Given the description of an element on the screen output the (x, y) to click on. 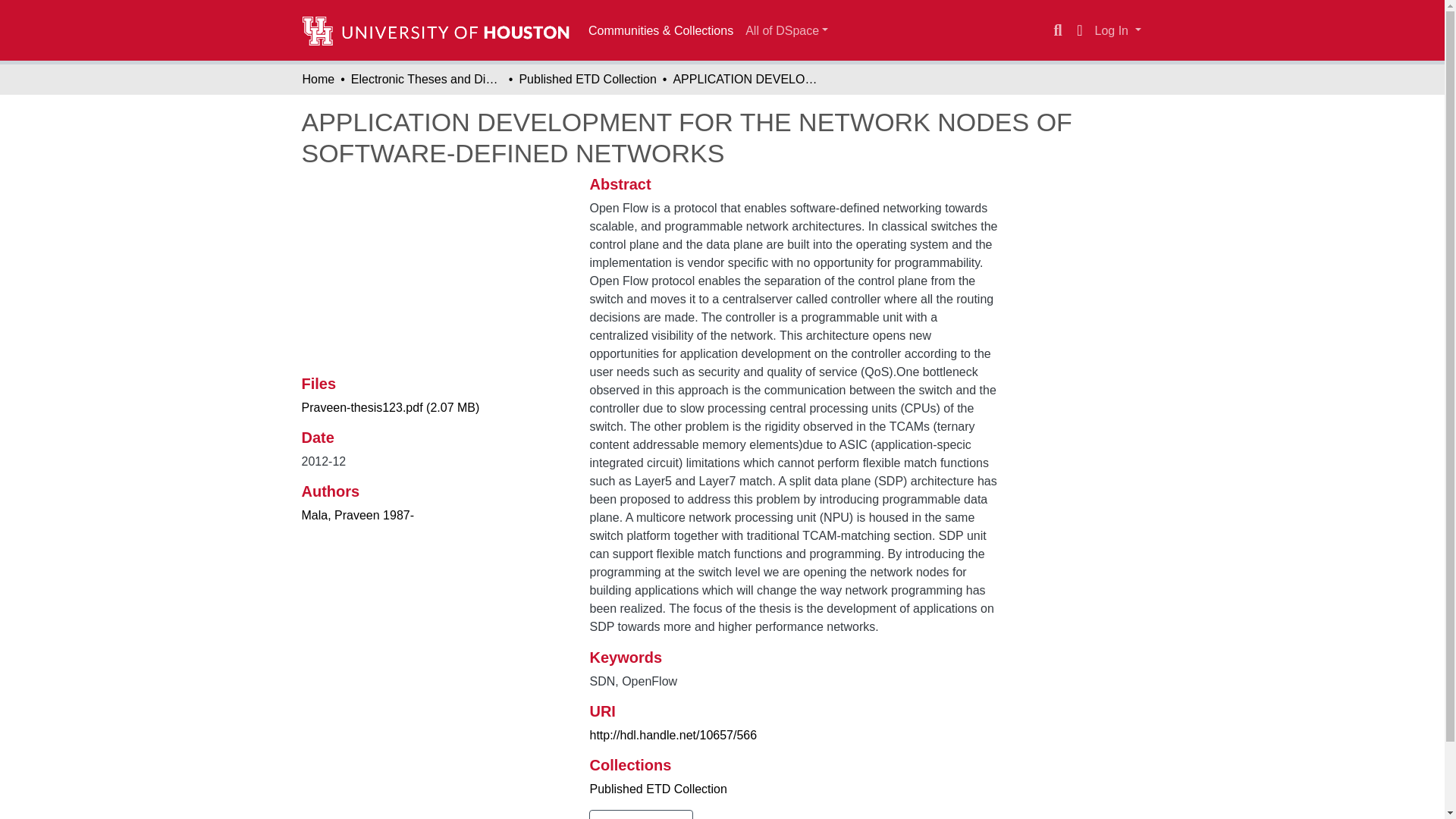
Language switch (1079, 30)
Home (317, 79)
Mala, Praveen 1987- (357, 514)
Full item page (641, 814)
Log In (1117, 30)
All of DSpace (786, 30)
Published ETD Collection (657, 788)
Published ETD Collection (587, 79)
Search (1057, 30)
